Given the description of an element on the screen output the (x, y) to click on. 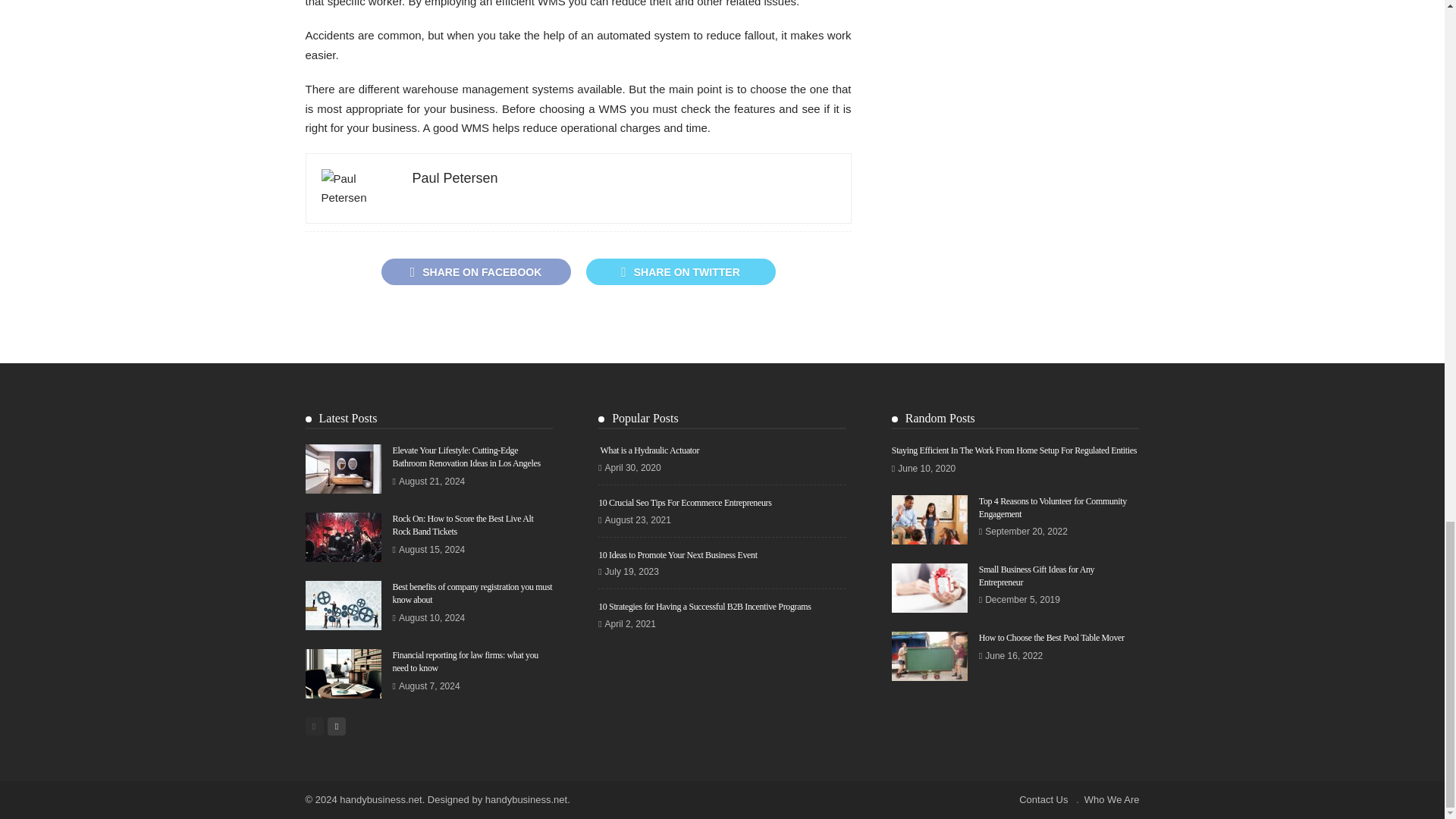
SHARE ON TWITTER (679, 271)
Paul Petersen (454, 177)
SHARE ON FACEBOOK (475, 271)
